Given the description of an element on the screen output the (x, y) to click on. 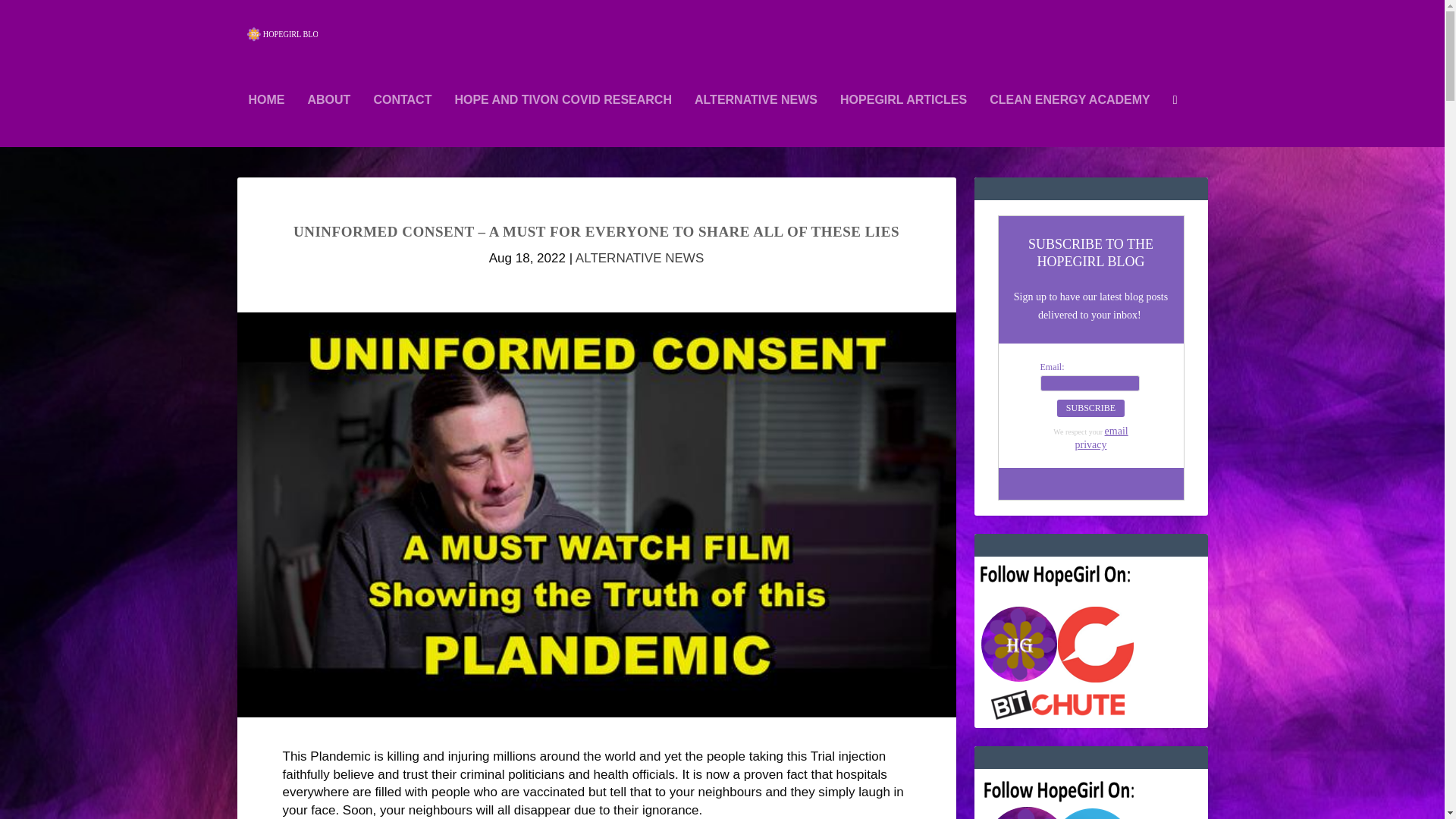
ALTERNATIVE NEWS (639, 257)
SUBSCRIBE (1090, 407)
SUBSCRIBE (1090, 407)
Privacy Policy (1101, 437)
ALTERNATIVE NEWS (755, 120)
HOPEGIRL ARTICLES (903, 120)
email privacy (1101, 437)
CLEAN ENERGY ACADEMY (1070, 120)
CONTACT (401, 120)
HOPE AND TIVON COVID RESEARCH (562, 120)
